Given the description of an element on the screen output the (x, y) to click on. 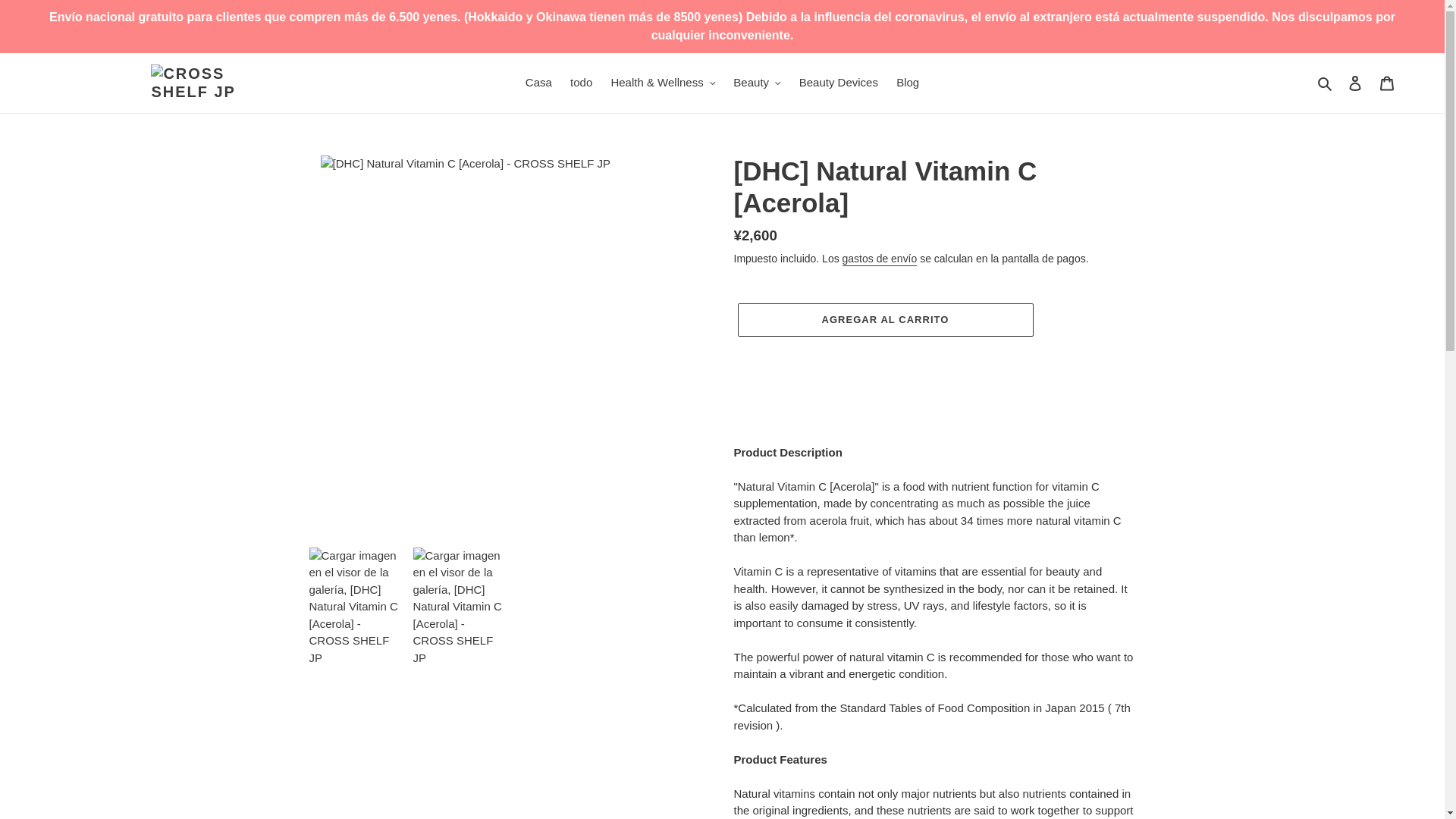
Casa (538, 83)
Ingresar (1355, 82)
todo (580, 83)
Blog (907, 83)
Buscar (1326, 82)
Carrito (1387, 82)
Beauty Devices (838, 83)
Beauty (756, 83)
